Given the description of an element on the screen output the (x, y) to click on. 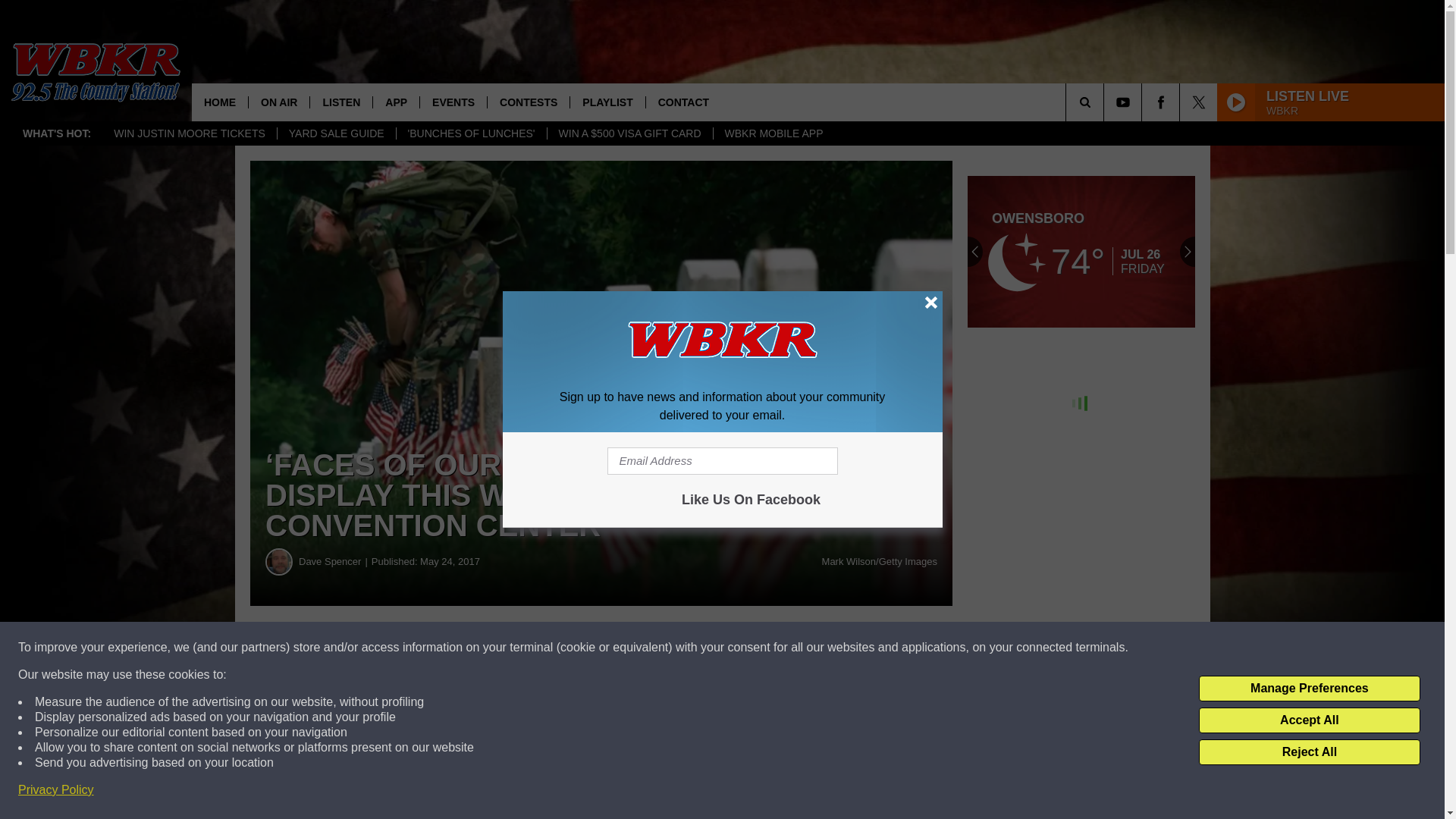
Privacy Policy (55, 789)
ON AIR (277, 102)
Reject All (1309, 751)
Accept All (1309, 720)
Email Address (722, 461)
APP (395, 102)
CONTACT (682, 102)
Share on Twitter (741, 647)
EVENTS (452, 102)
PLAYLIST (607, 102)
HOME (219, 102)
'BUNCHES OF LUNCHES' (471, 133)
SEARCH (1106, 102)
YARD SALE GUIDE (336, 133)
WHAT'S HOT: (56, 133)
